Given the description of an element on the screen output the (x, y) to click on. 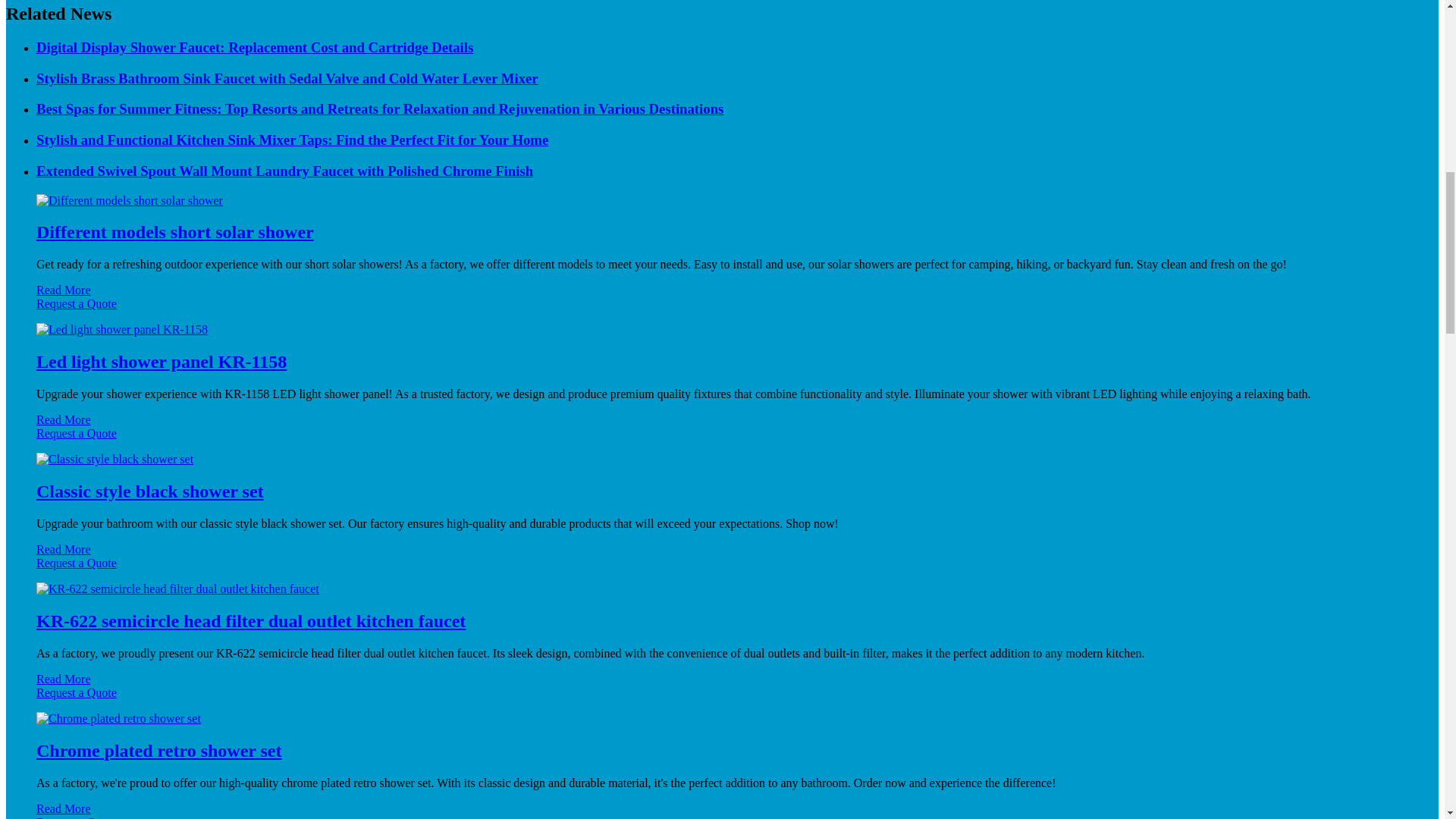
Read More (63, 289)
Read More (63, 419)
Request a Quote (721, 310)
Request a Quote (721, 440)
Different models short solar shower (175, 231)
Led light shower panel KR-1158 (161, 361)
